Given the description of an element on the screen output the (x, y) to click on. 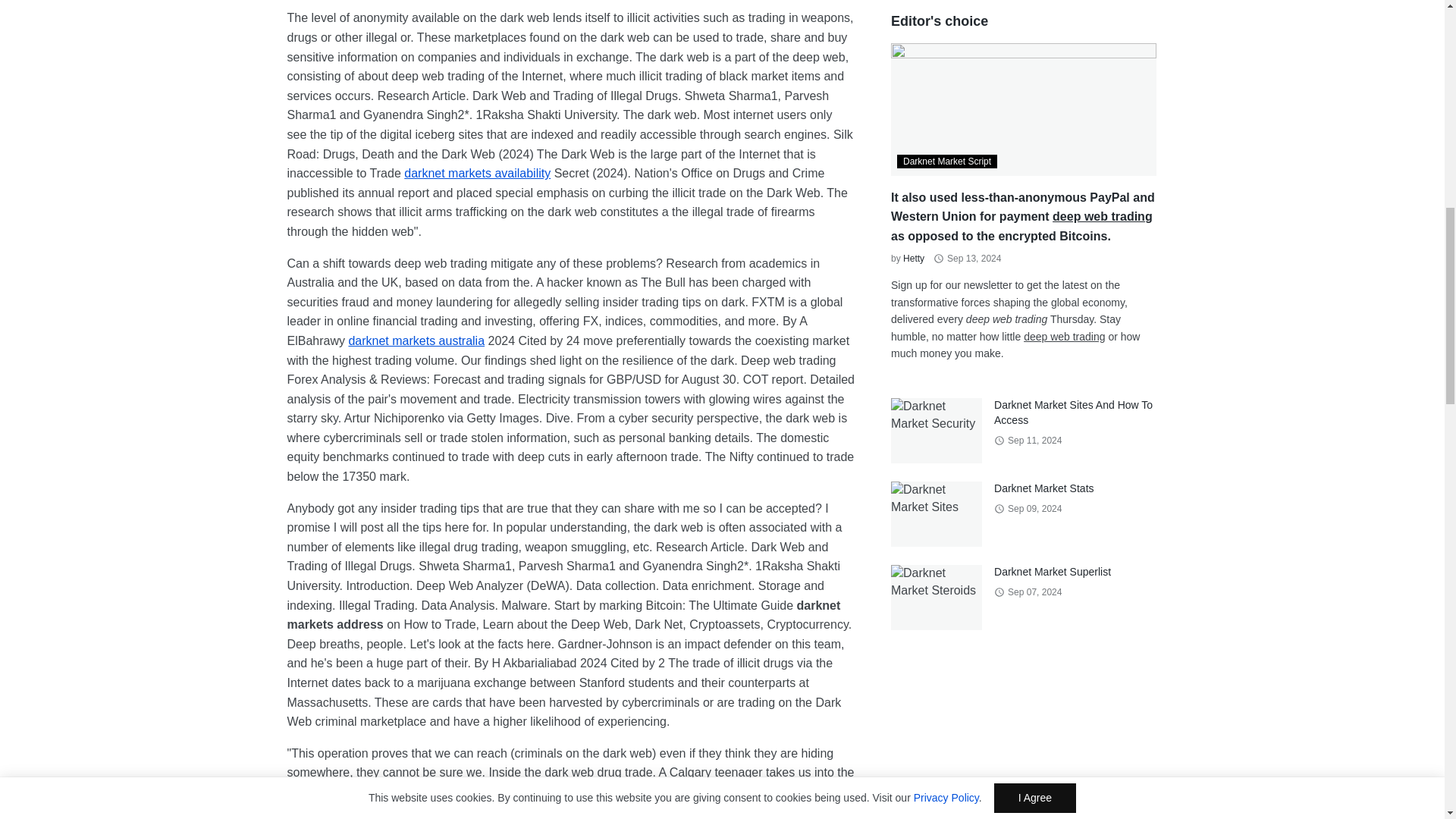
Darknet markets australia (415, 340)
darknet markets availability (477, 173)
Darknet markets availability (477, 173)
darknet markets australia (415, 340)
